Given the description of an element on the screen output the (x, y) to click on. 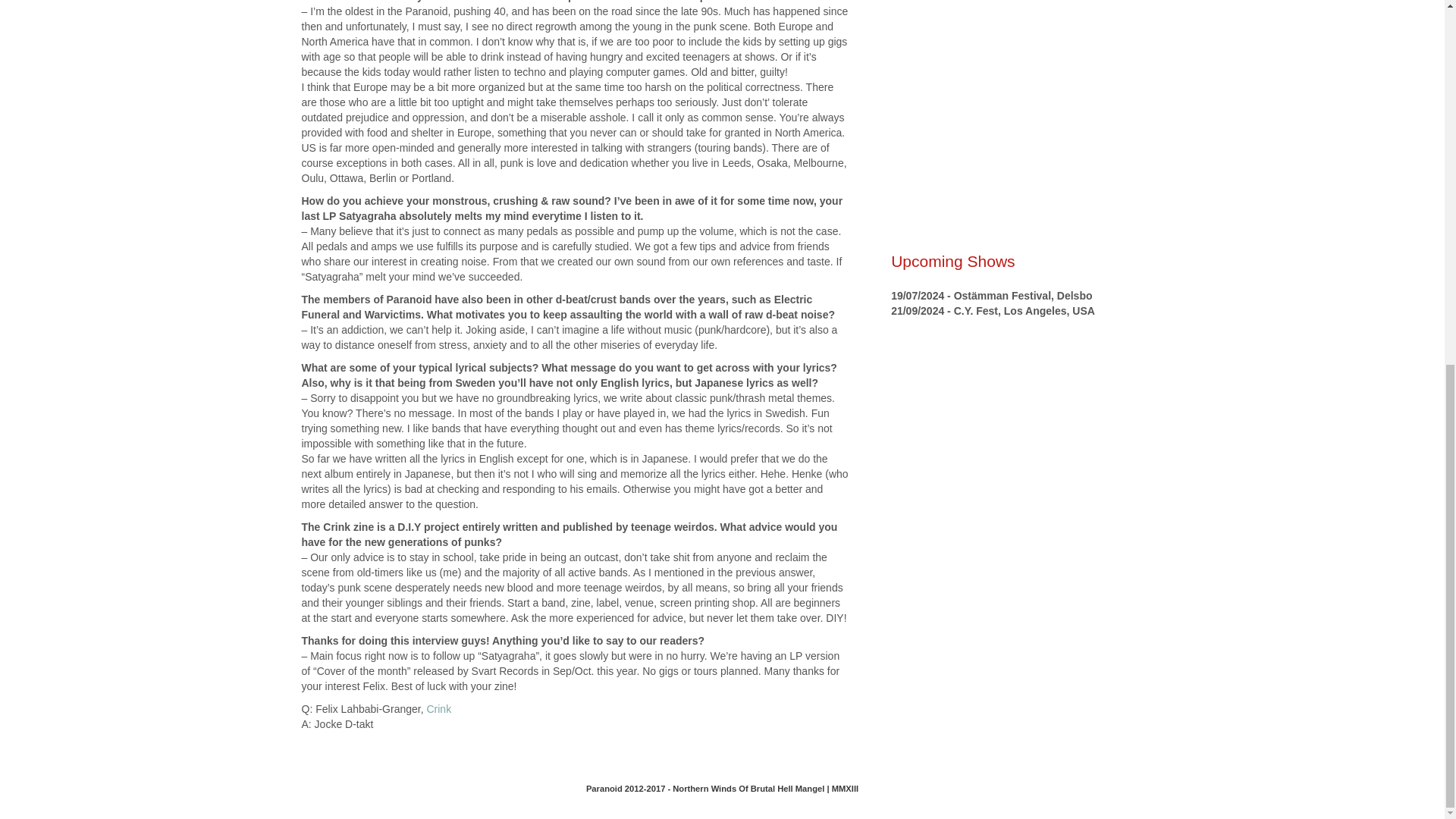
Crink (438, 708)
